Given the description of an element on the screen output the (x, y) to click on. 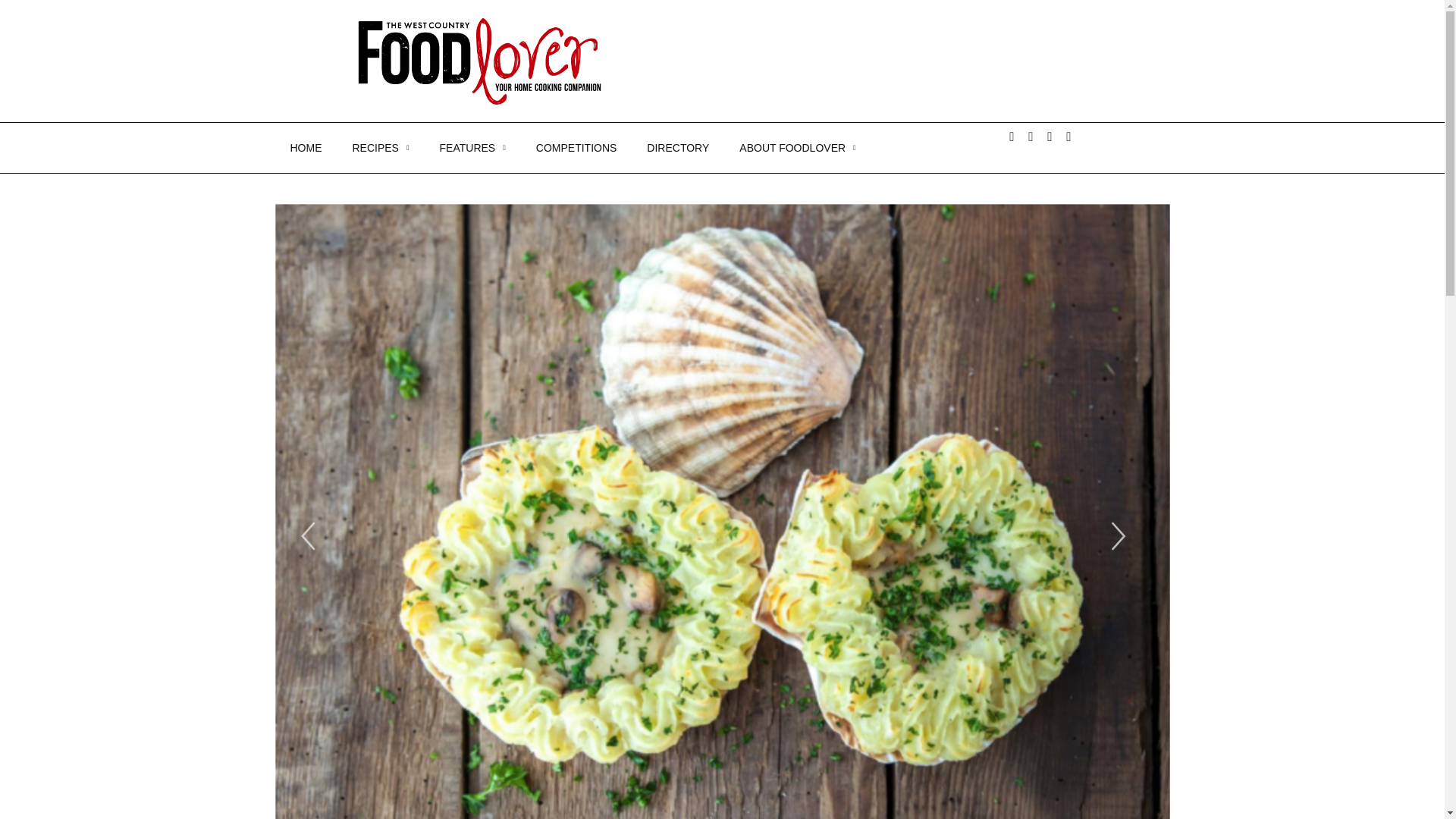
RECIPES (379, 147)
HOME (305, 147)
FEATURES (473, 147)
